Given the description of an element on the screen output the (x, y) to click on. 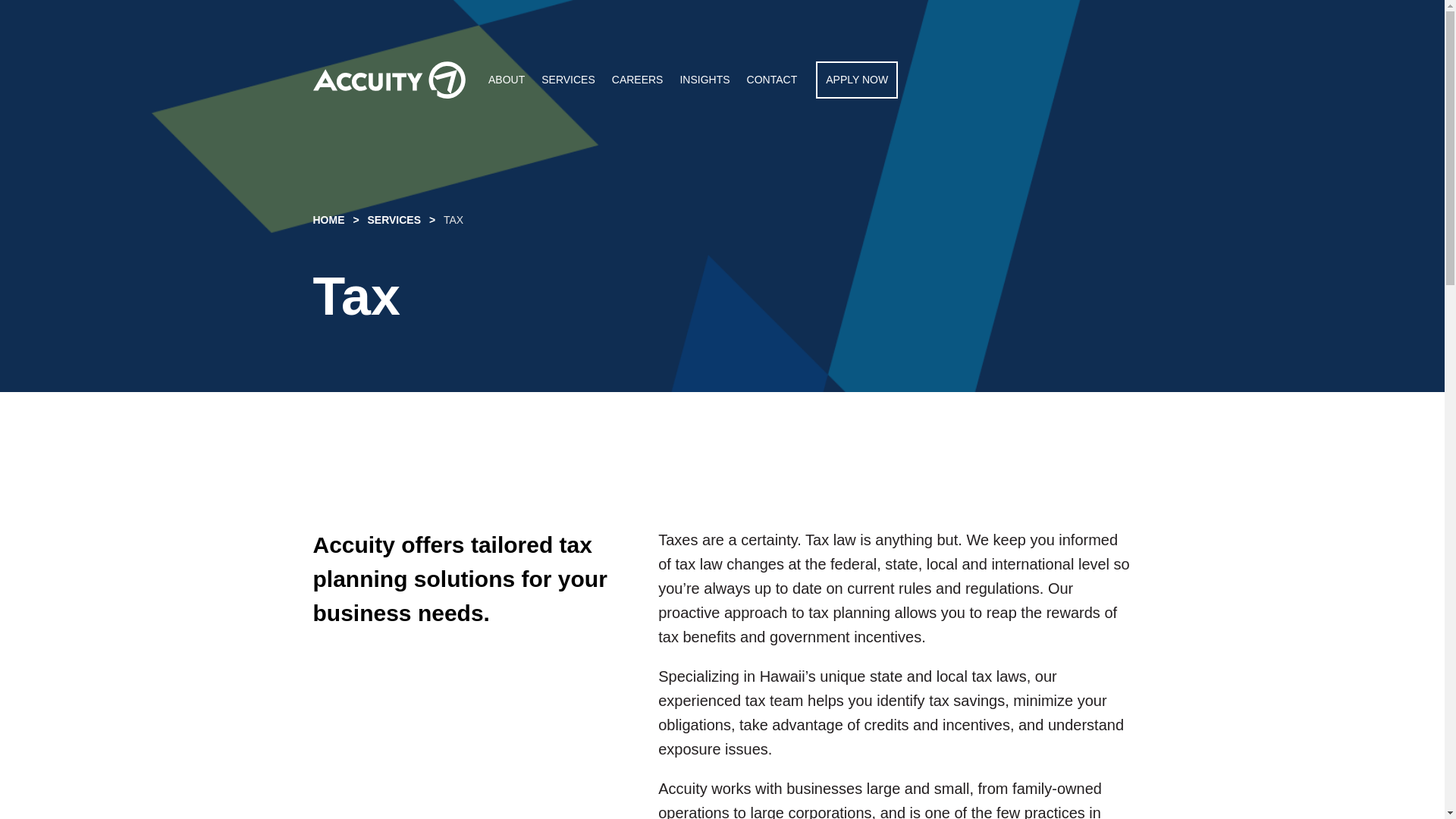
SERVICES (393, 219)
CAREERS (637, 79)
INSIGHTS (704, 79)
ABOUT (505, 79)
SERVICES (568, 79)
APPLY NOW (856, 80)
CONTACT (771, 79)
HOME (331, 219)
